Given the description of an element on the screen output the (x, y) to click on. 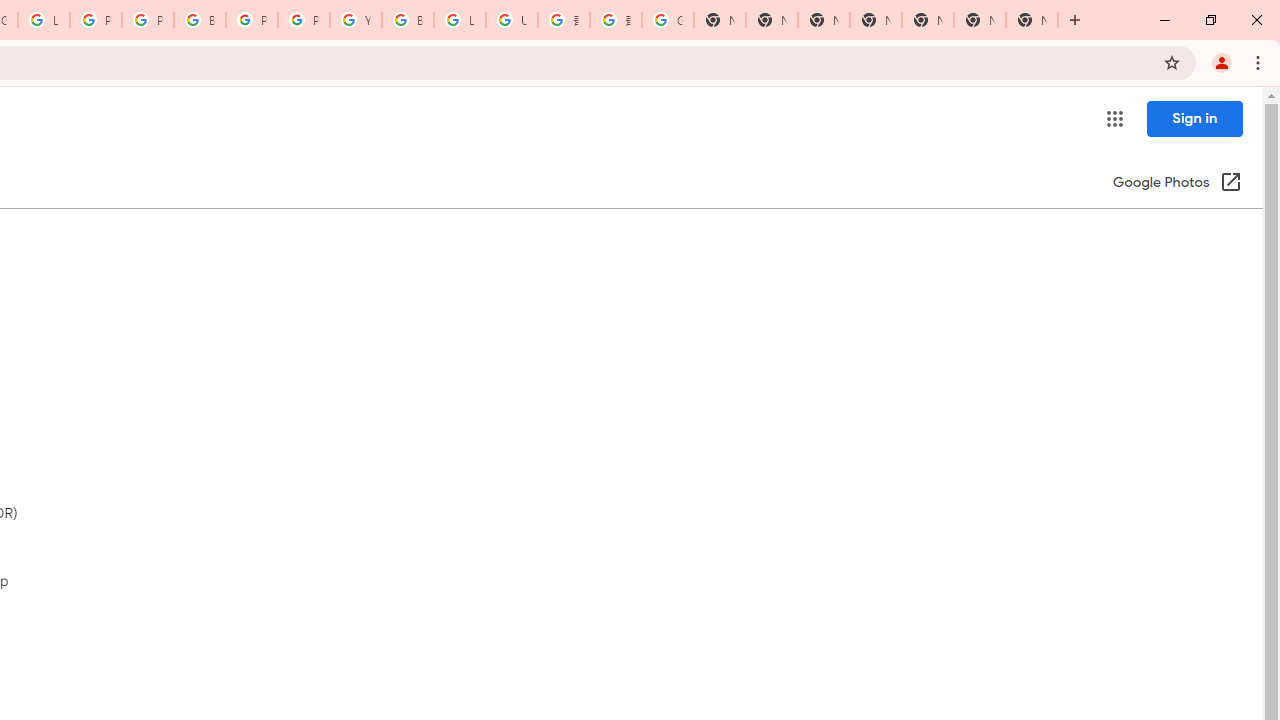
New Tab (875, 20)
Google Images (667, 20)
Privacy Help Center - Policies Help (147, 20)
New Tab (1032, 20)
Google Photos (Open in a new window) (1177, 183)
